Given the description of an element on the screen output the (x, y) to click on. 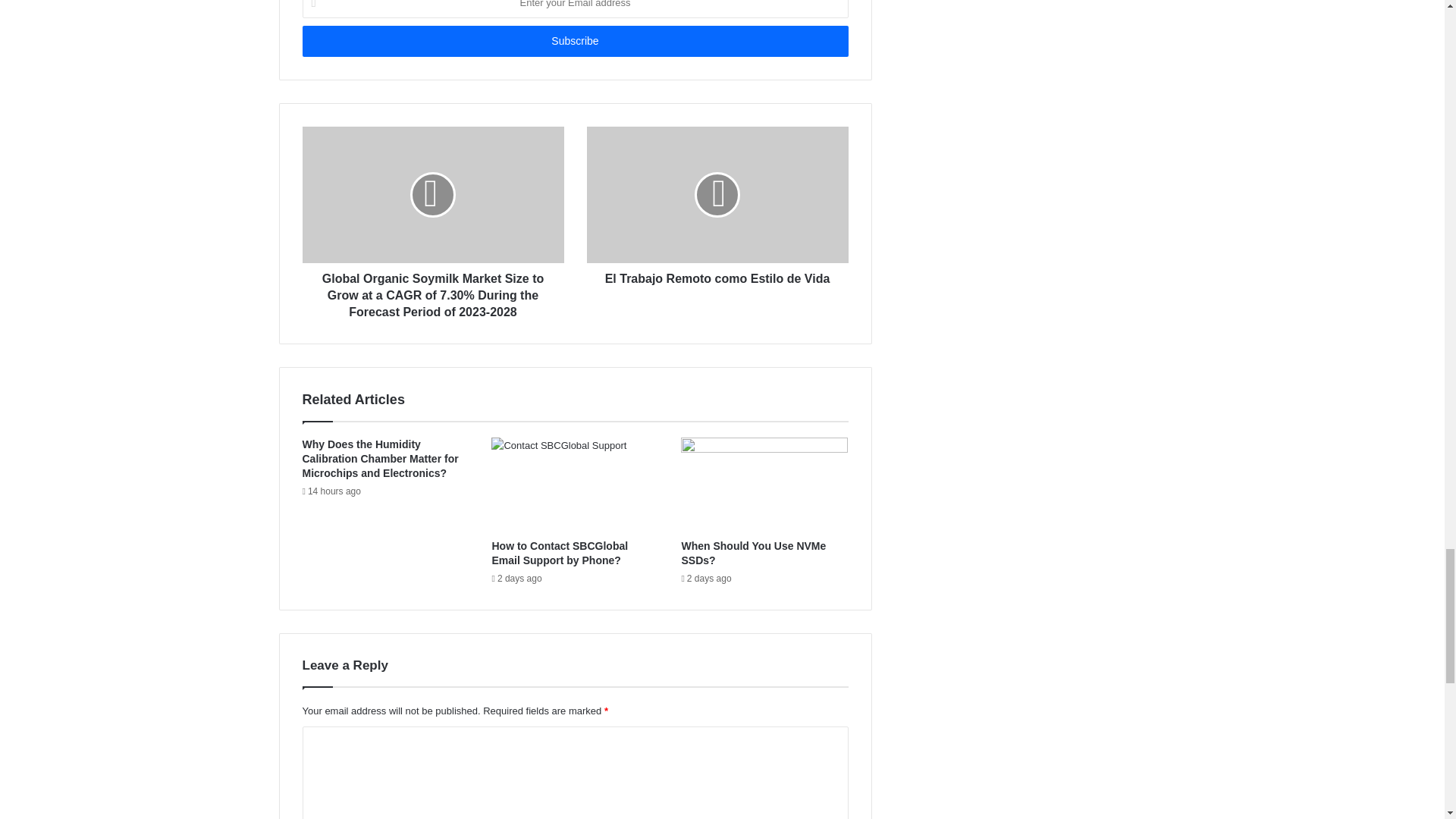
Subscribe (574, 40)
